Given the description of an element on the screen output the (x, y) to click on. 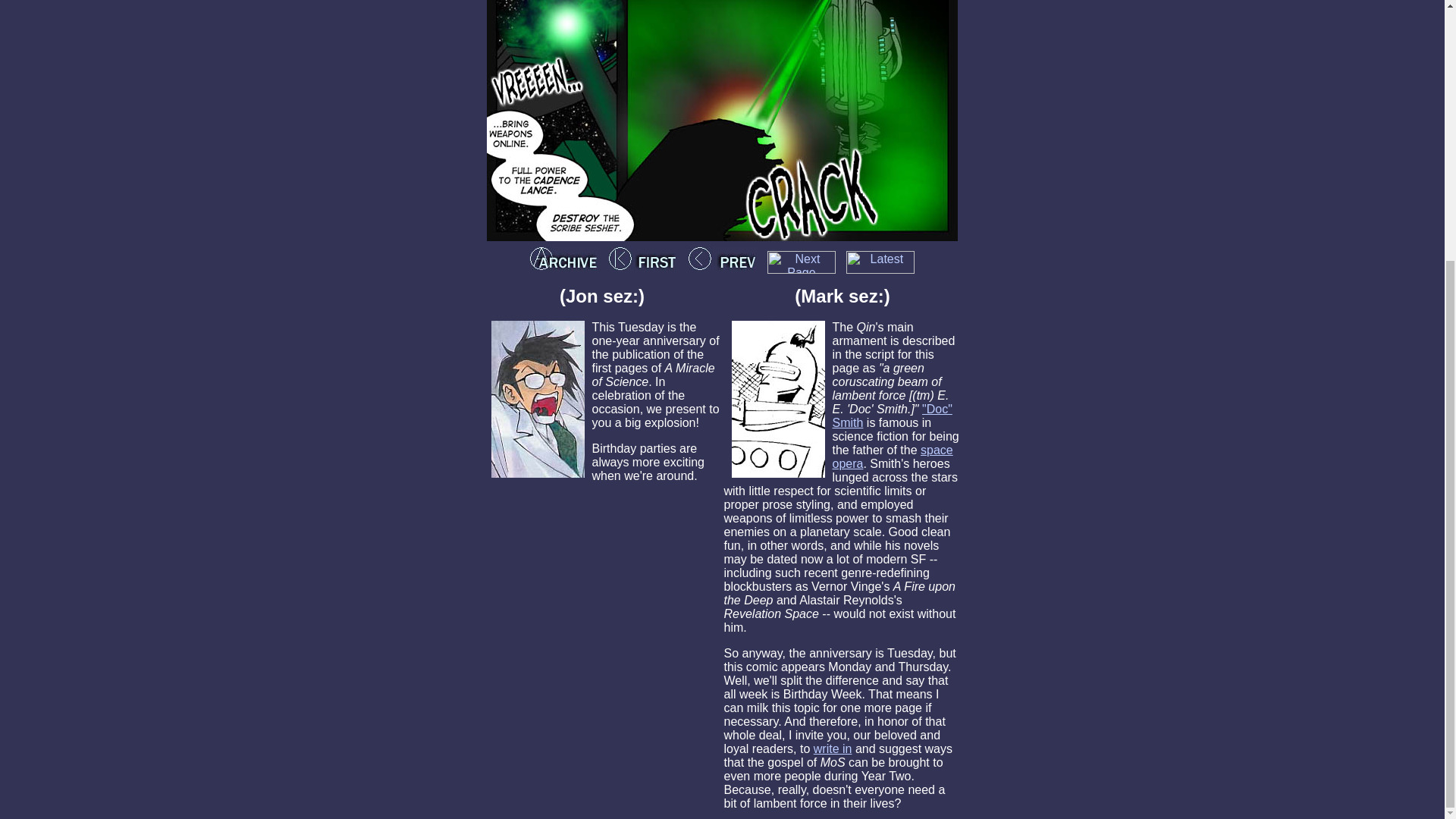
"Doc" Smith (892, 415)
space opera (892, 456)
write in (832, 748)
